Given the description of an element on the screen output the (x, y) to click on. 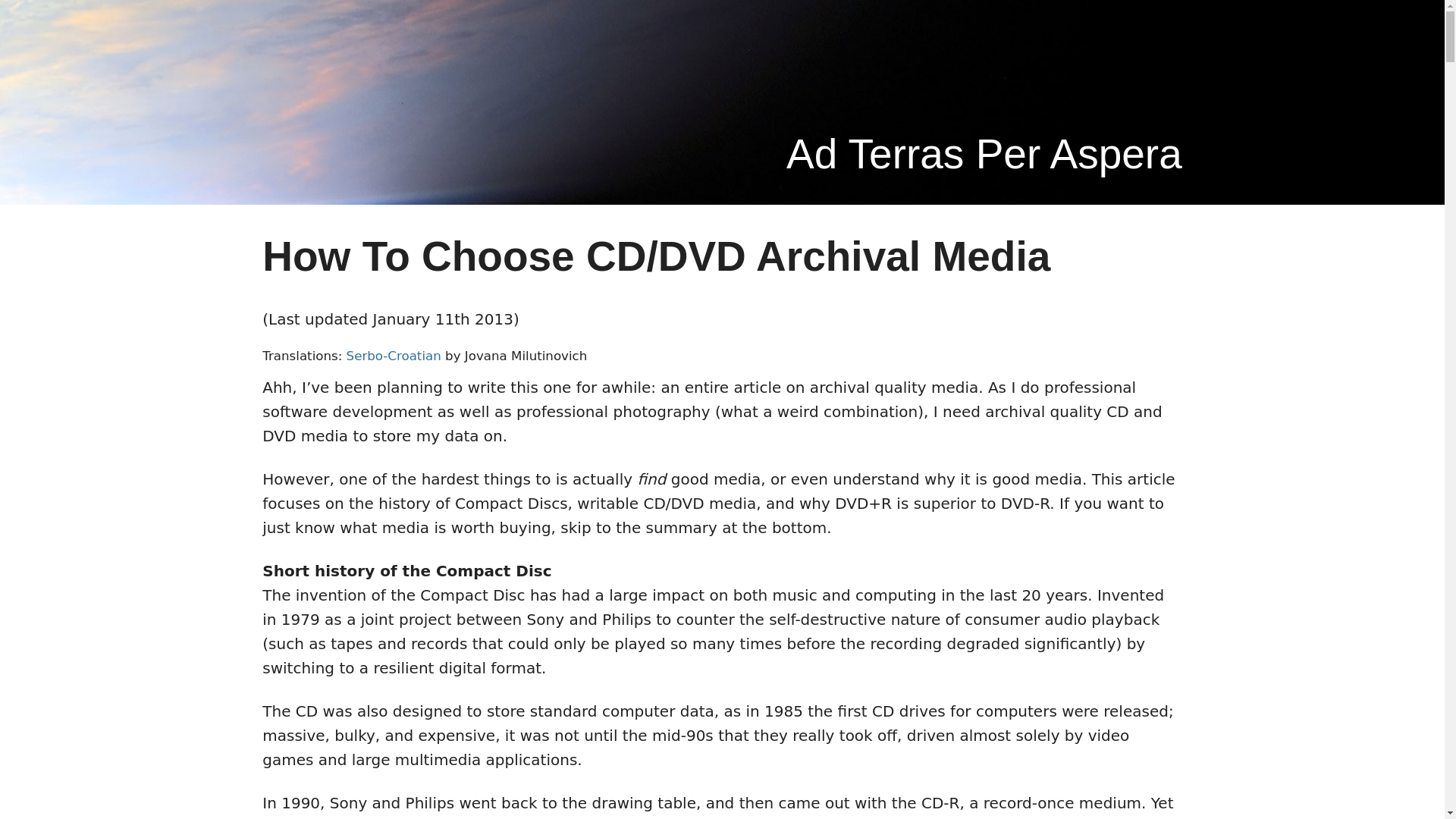
Serbo-Croatian (393, 355)
Ad Terras Per Aspera (722, 154)
